Given the description of an element on the screen output the (x, y) to click on. 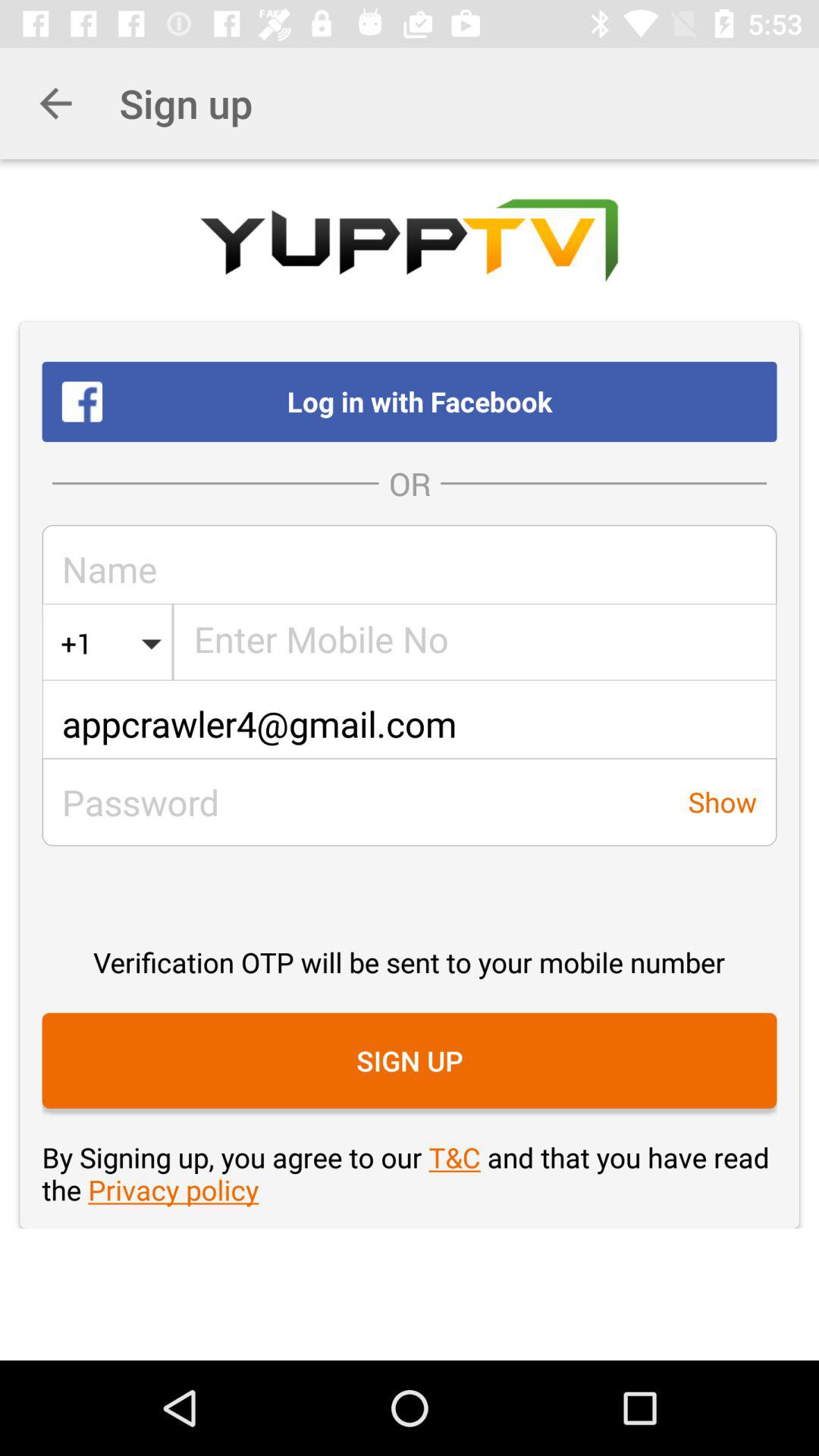
click the item to the left of show item (355, 802)
